Given the description of an element on the screen output the (x, y) to click on. 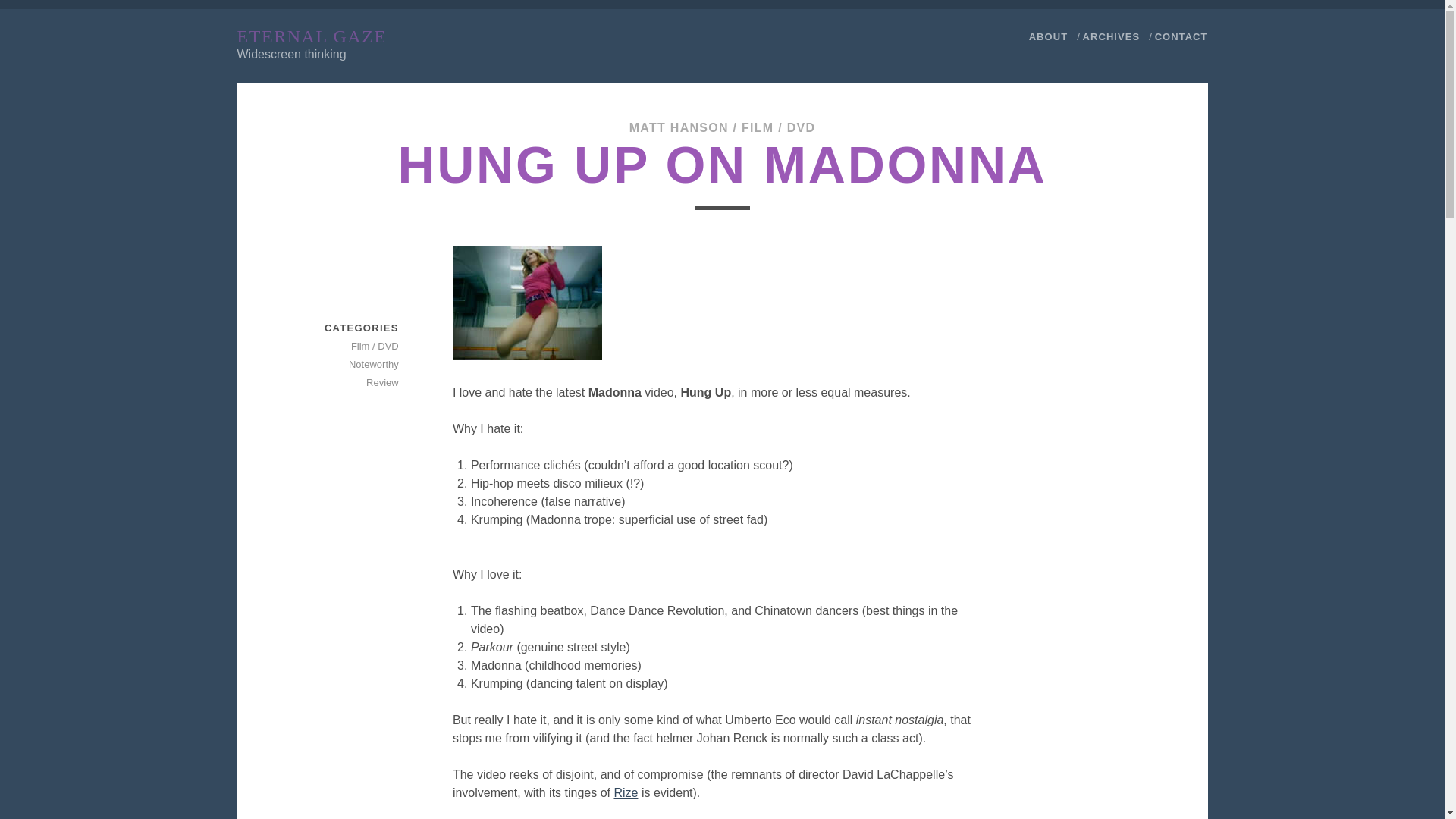
Rize (624, 792)
Madonna hung up (527, 303)
View all posts in Noteworthy (344, 364)
ETERNAL GAZE (310, 35)
Rize the movie (624, 792)
Noteworthy (344, 364)
View all posts in Review (344, 382)
ARCHIVES (1111, 36)
Eternal Gaze  (310, 35)
MATT HANSON (678, 127)
